Given the description of an element on the screen output the (x, y) to click on. 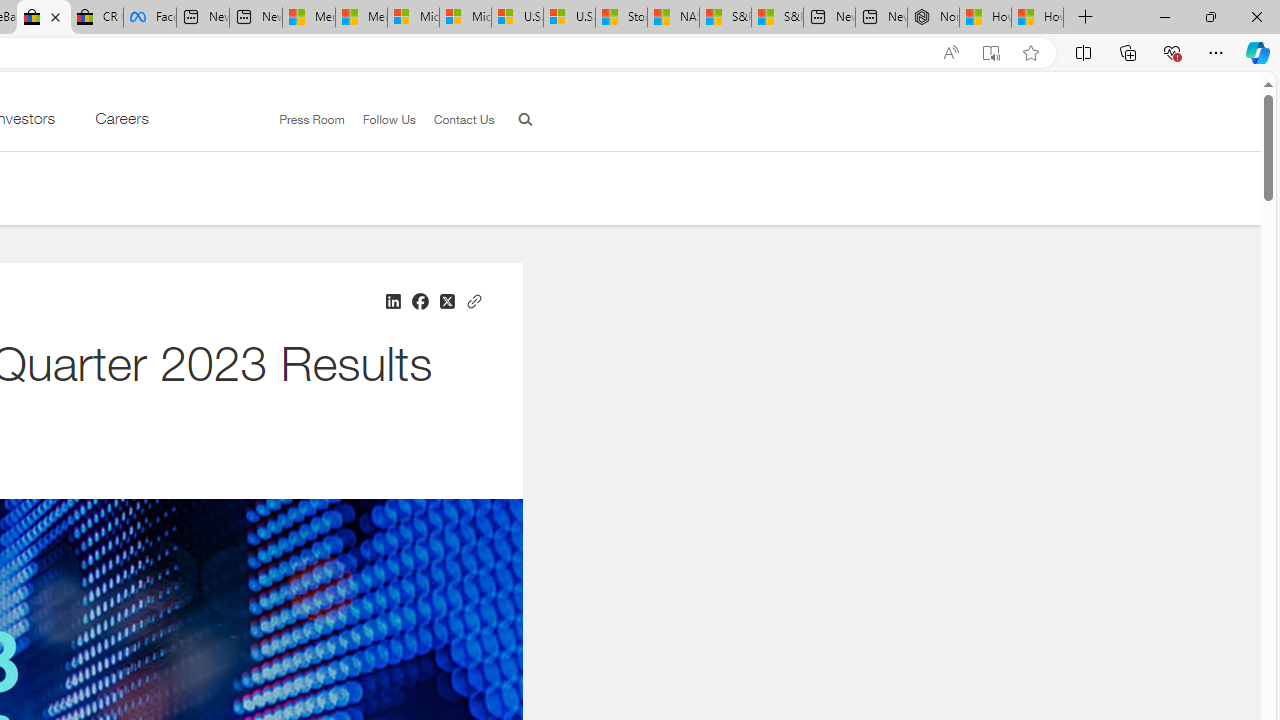
Share on Facebook (419, 301)
Browser essentials (1171, 52)
Close tab (55, 16)
Copy link to clipboard (473, 299)
eBay Inc. Reports Third Quarter 2023 Results (43, 17)
Enter Immersive Reader (F9) (991, 53)
How to Use a Monitor With Your Closed Laptop (1037, 17)
Collections (1128, 52)
Follow Us (389, 119)
